Given the description of an element on the screen output the (x, y) to click on. 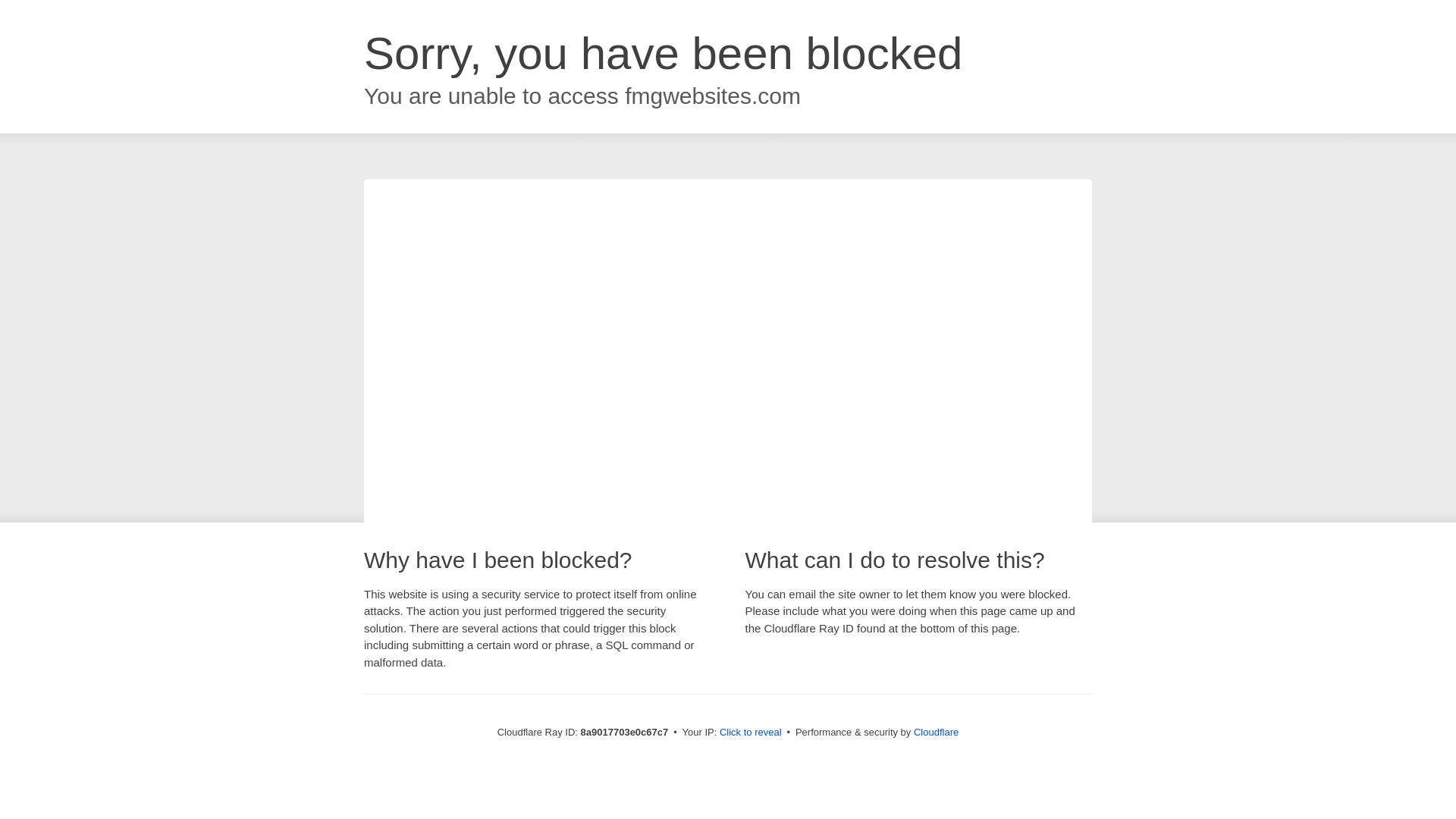
Click to reveal (750, 732)
Cloudflare (936, 731)
